Given the description of an element on the screen output the (x, y) to click on. 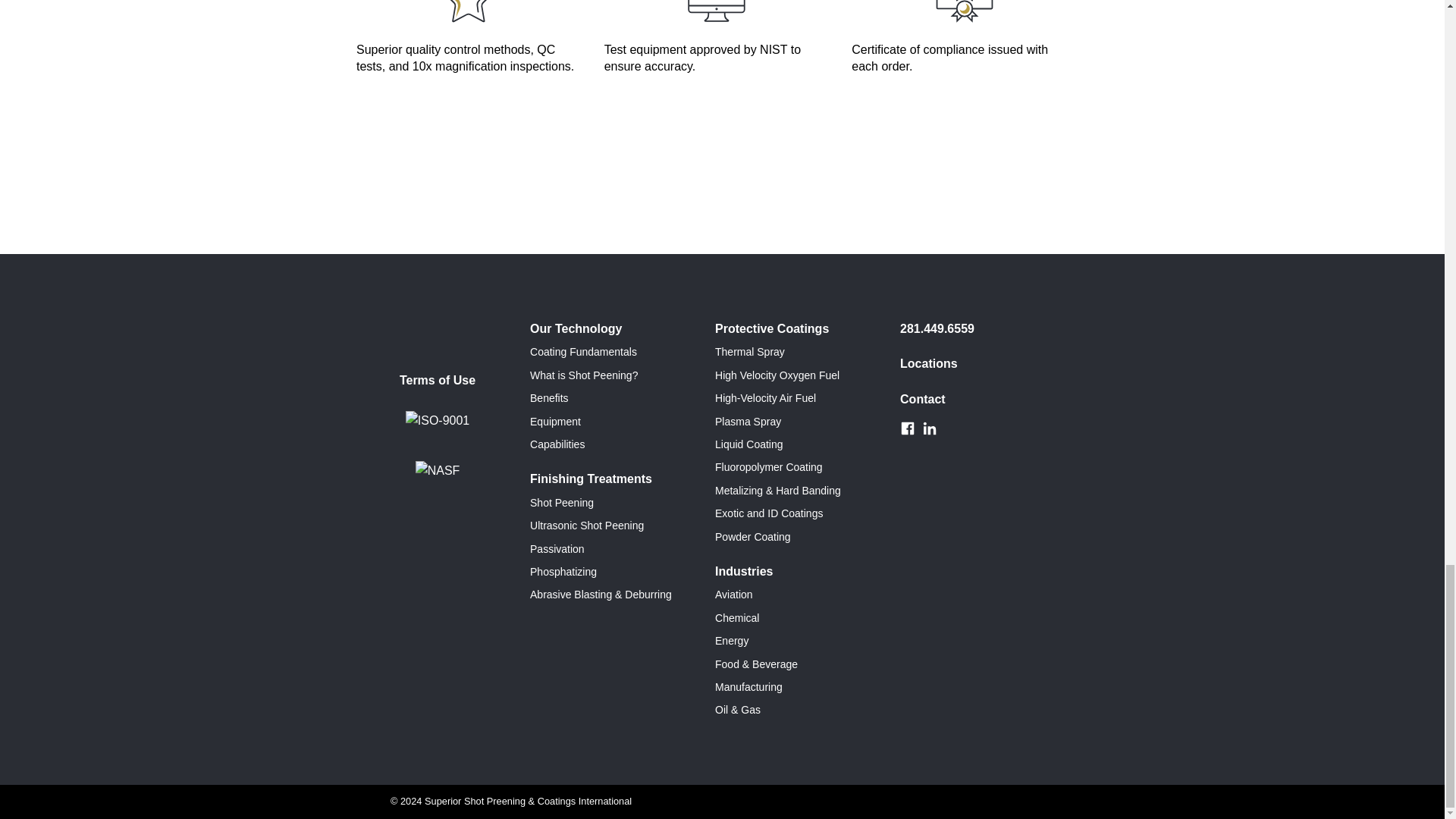
QUALITY (468, 36)
Linked In (929, 427)
RELIABILITY (716, 36)
TRUST (964, 36)
Facebook (907, 427)
